Given the description of an element on the screen output the (x, y) to click on. 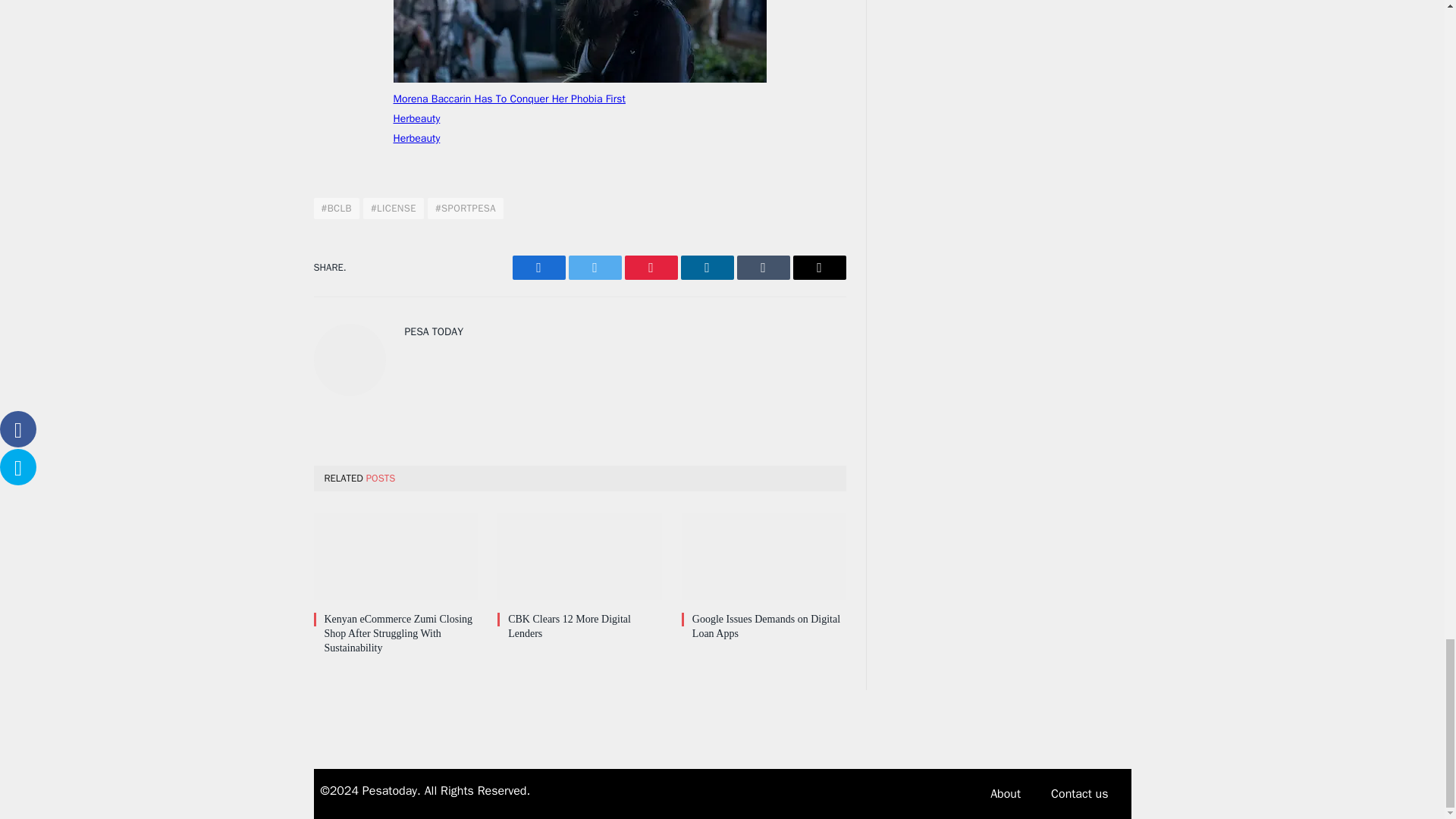
Posts by Pesa Today (434, 331)
Share on Pinterest (651, 267)
Share via Email (819, 267)
Share on Facebook (539, 267)
Share on Tumblr (763, 267)
CBK Clears 12 More Digital Lenders (579, 555)
Share on LinkedIn (707, 267)
